Given the description of an element on the screen output the (x, y) to click on. 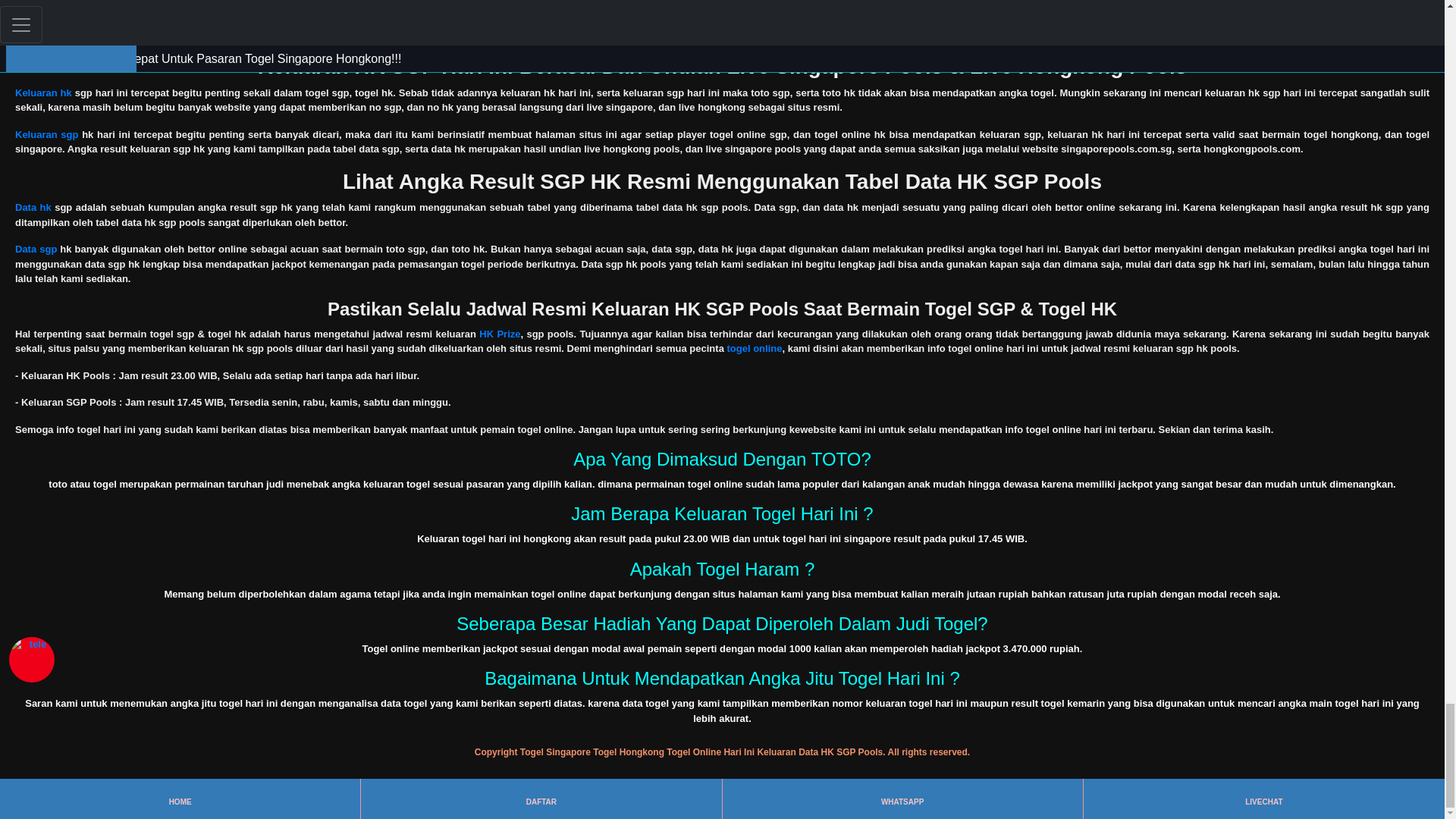
Data sgp (35, 248)
HK Prize (499, 333)
Keluaran sgp (46, 134)
Keluaran hk (42, 92)
togel online (753, 348)
Togel hari ini (45, 19)
Data hk (32, 206)
